Given the description of an element on the screen output the (x, y) to click on. 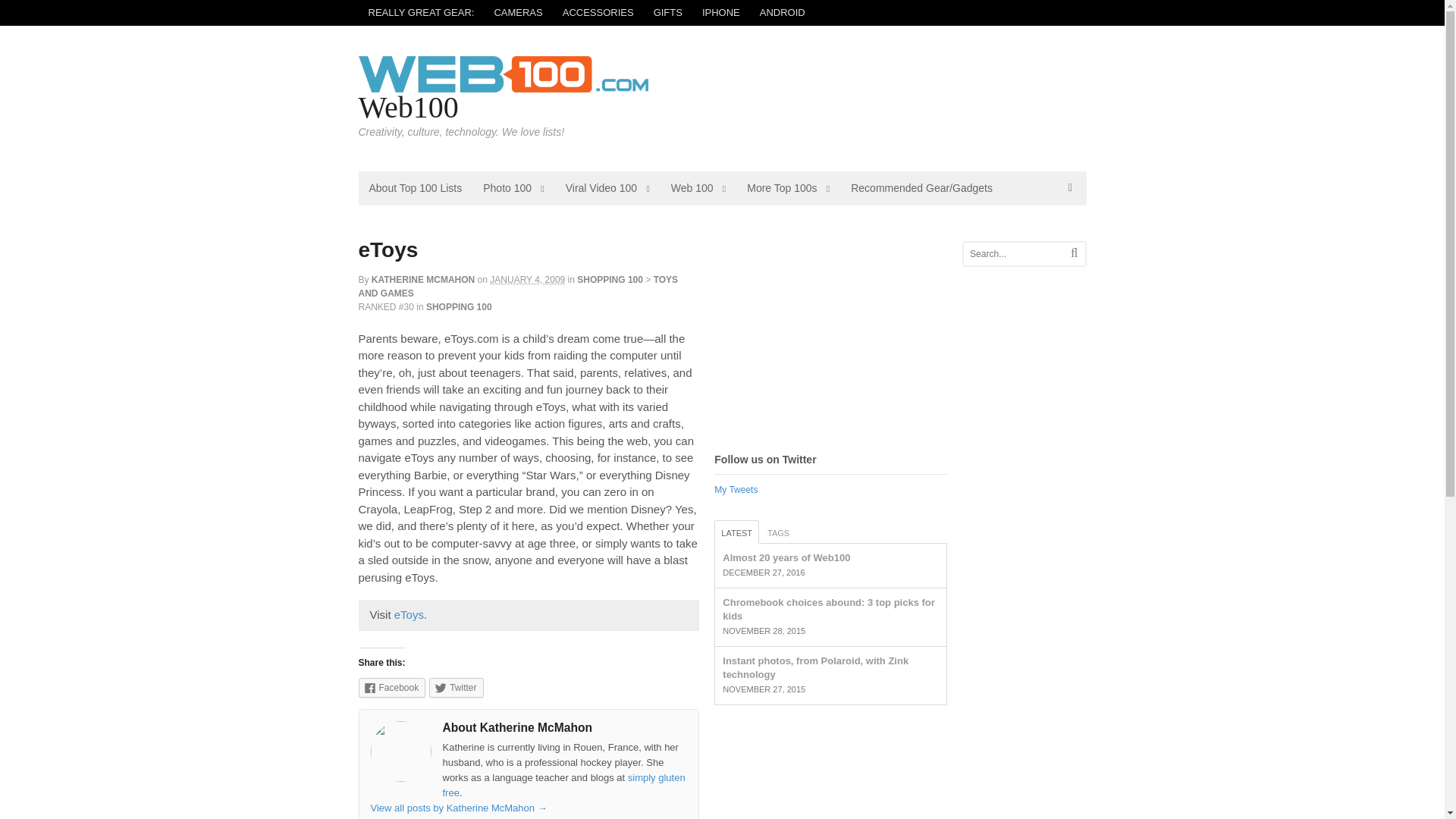
Posts by Katherine McMahon (422, 279)
About Top 100 Lists (414, 188)
Web100 (408, 107)
IPHONE (721, 12)
CAMERAS (517, 12)
2009-01-04T11:20:22-0500 (526, 279)
Instant photos, from Polaroid, with Zink technology (815, 667)
Almost 20 years of Web100 (786, 557)
Chromebook choices abound: 3 top picks for kids (828, 609)
Click to share on Twitter (456, 687)
Search... (1020, 253)
Click to share on Facebook (391, 687)
GIFTS (668, 12)
Photo 100 (512, 188)
Viral Video 100 (607, 188)
